Given the description of an element on the screen output the (x, y) to click on. 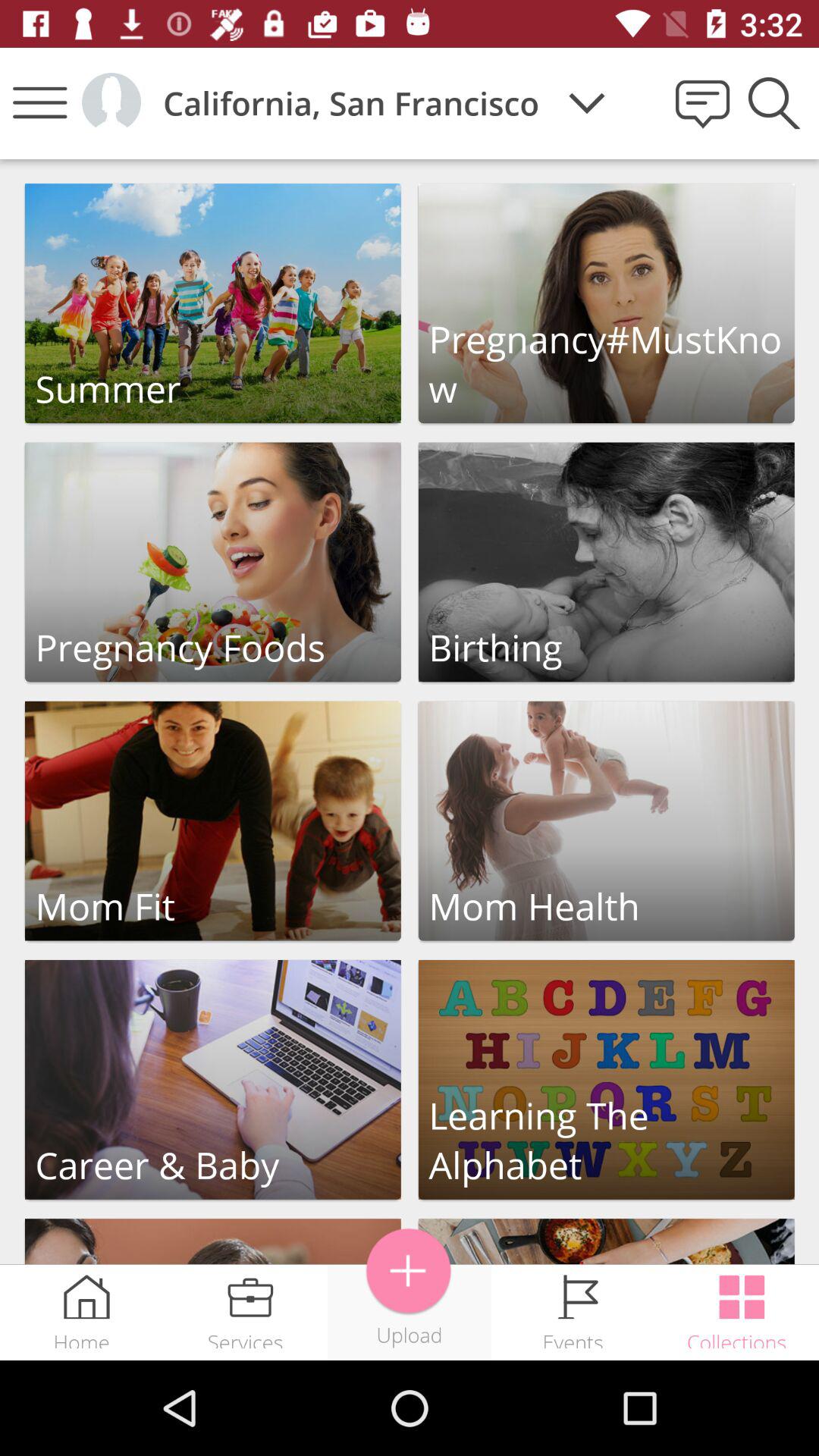
add a topic (408, 1271)
